Given the description of an element on the screen output the (x, y) to click on. 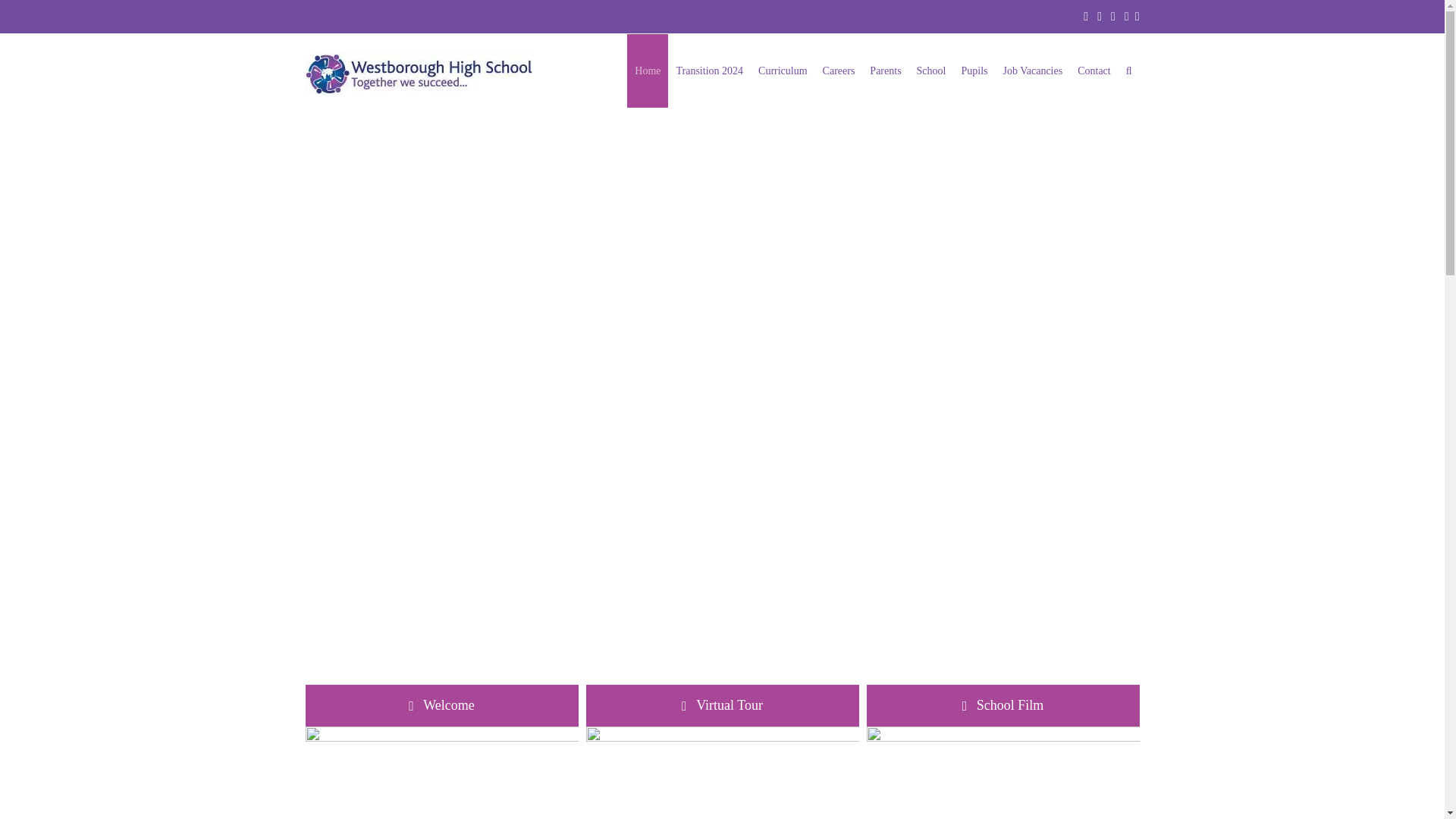
Video Test (722, 705)
Video Test (441, 705)
Transition 2024 (709, 70)
virtual-tour-view (722, 772)
welcome-sign (441, 772)
Video Test (1002, 705)
school-tour (1002, 772)
